Given the description of an element on the screen output the (x, y) to click on. 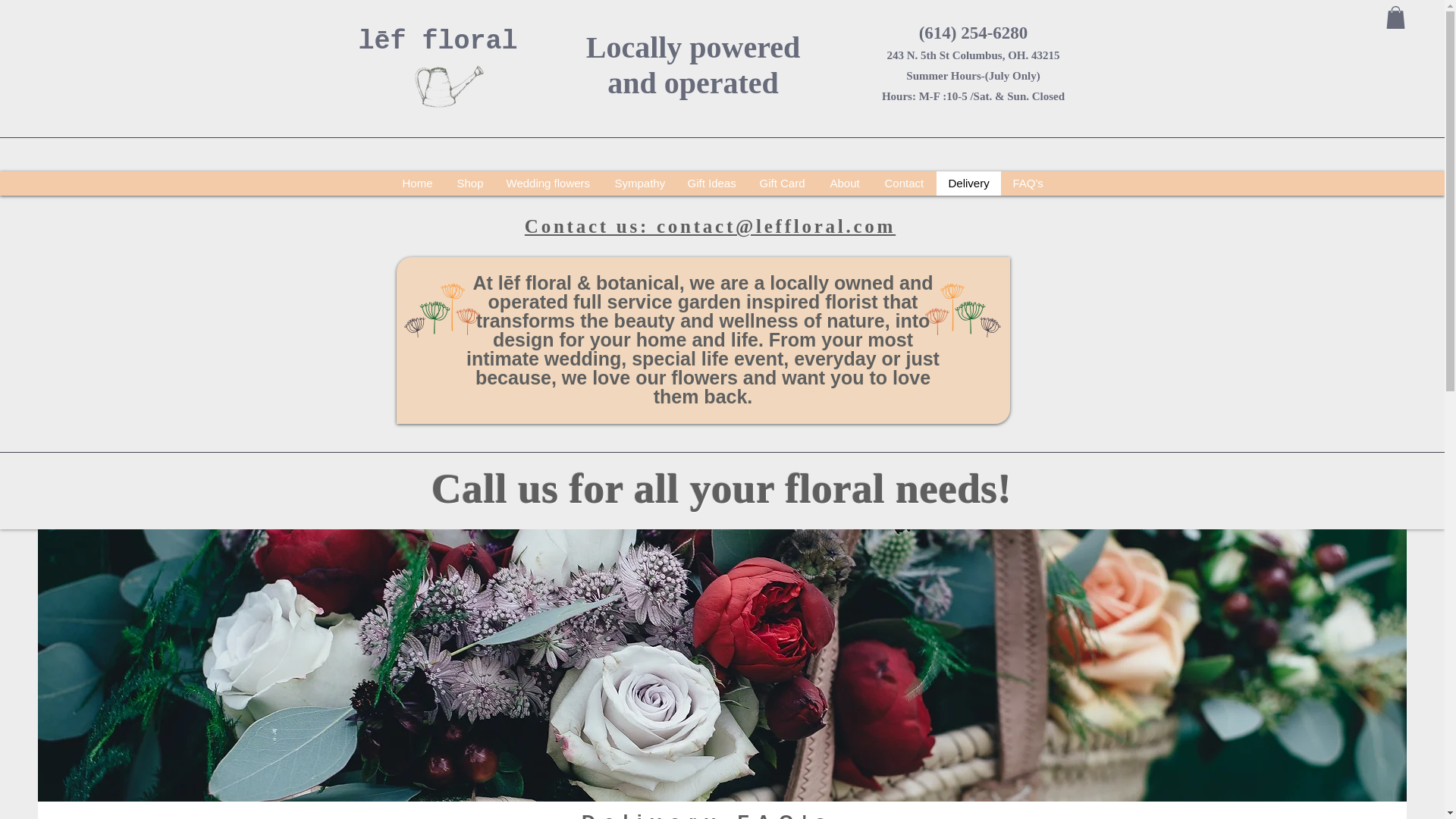
FAQ's (1027, 183)
Gift Ideas (710, 183)
Contact (904, 183)
Home (417, 183)
Sympathy (638, 183)
Wedding flowers (548, 183)
Gift Card (783, 183)
About (844, 183)
Delivery (968, 183)
Shop (468, 183)
